Given the description of an element on the screen output the (x, y) to click on. 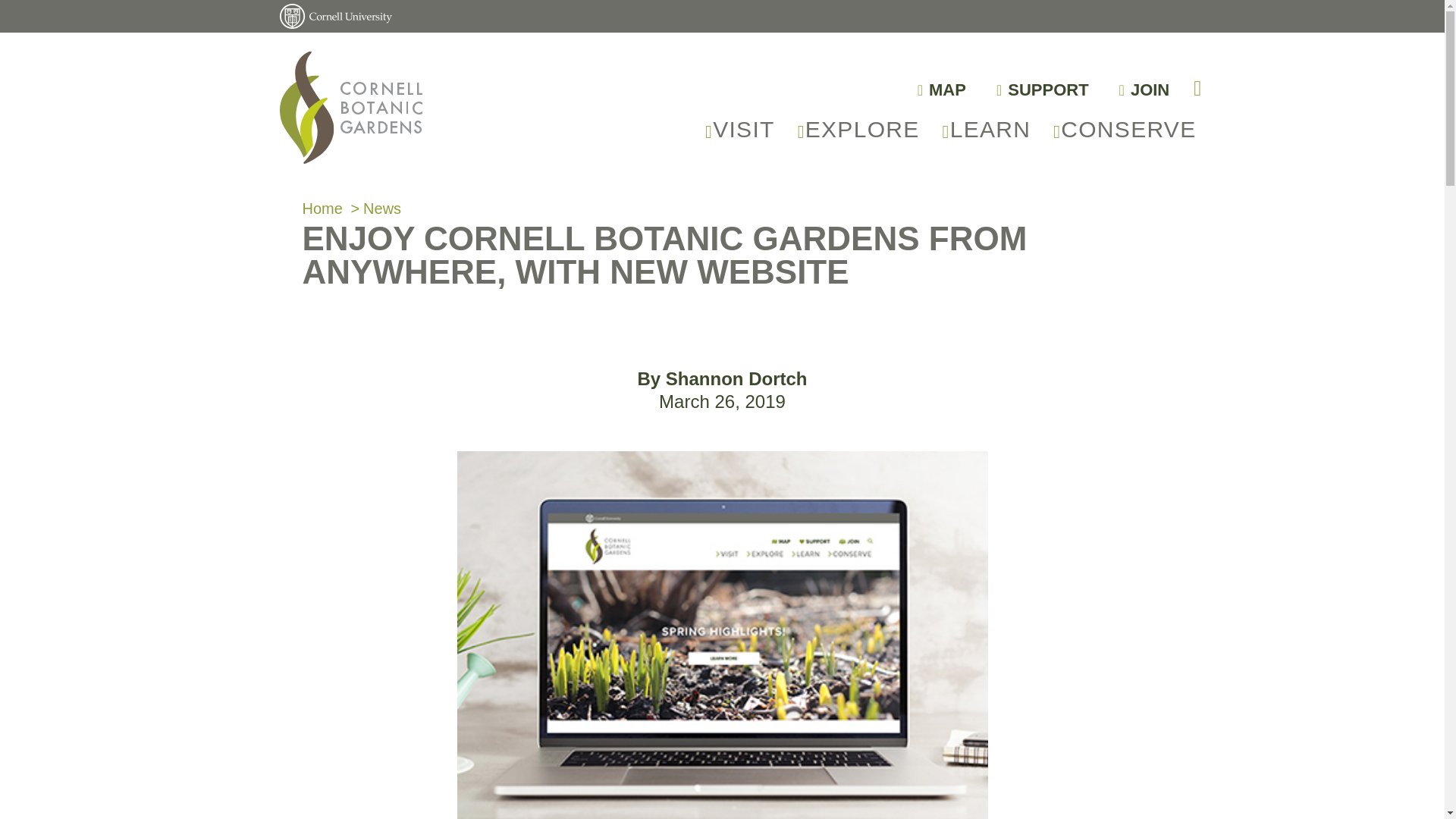
LEARN (986, 128)
JOIN (1150, 89)
VISIT (740, 128)
Go to CornellBotanicGardens. (321, 208)
MAP (947, 89)
Go to the News category archives. (381, 208)
SUPPORT (1047, 89)
EXPLORE (858, 128)
CONSERVE (1124, 128)
